Given the description of an element on the screen output the (x, y) to click on. 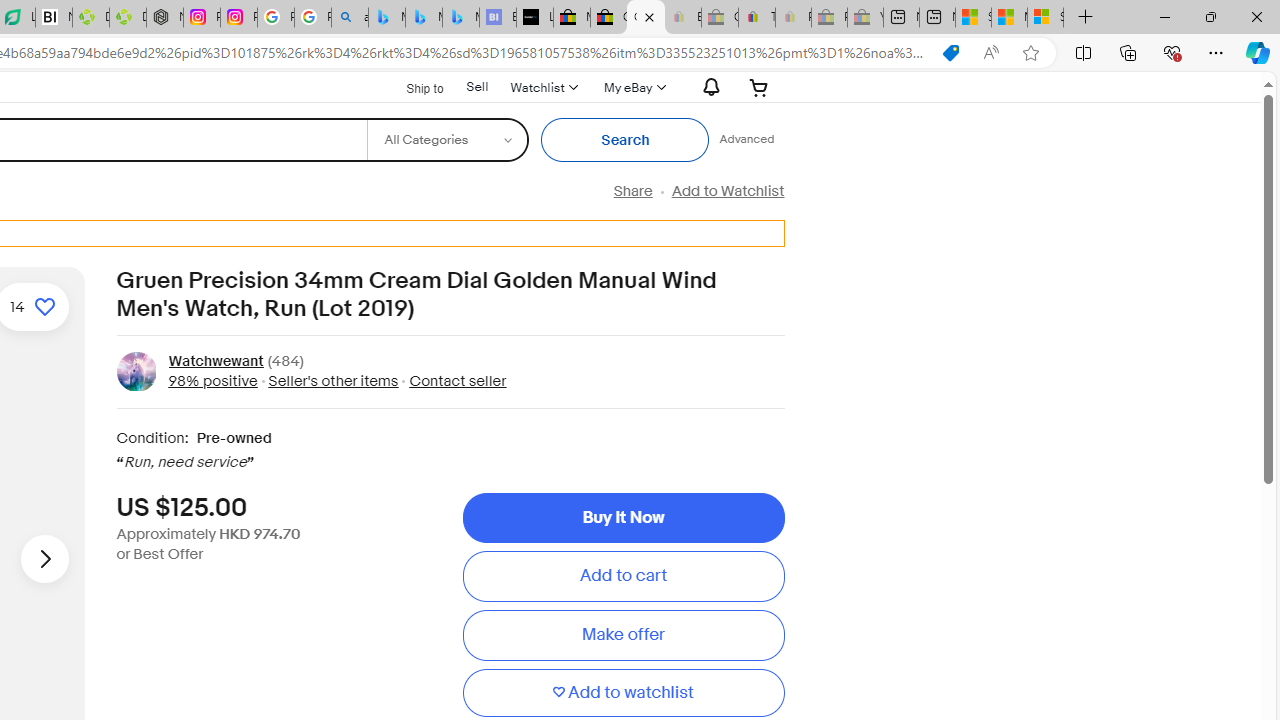
Share (632, 191)
Microsoft Bing Travel - Flights from Hong Kong to Bangkok (386, 17)
Expand Cart (759, 87)
Descarga Driver Updater (127, 17)
Buy It Now (623, 517)
Seller's other items (333, 380)
Class: ux-action (136, 371)
WatchlistExpand Watch List (543, 87)
My eBayExpand My eBay (632, 87)
98% positive (212, 380)
Buy It Now (623, 517)
